Given the description of an element on the screen output the (x, y) to click on. 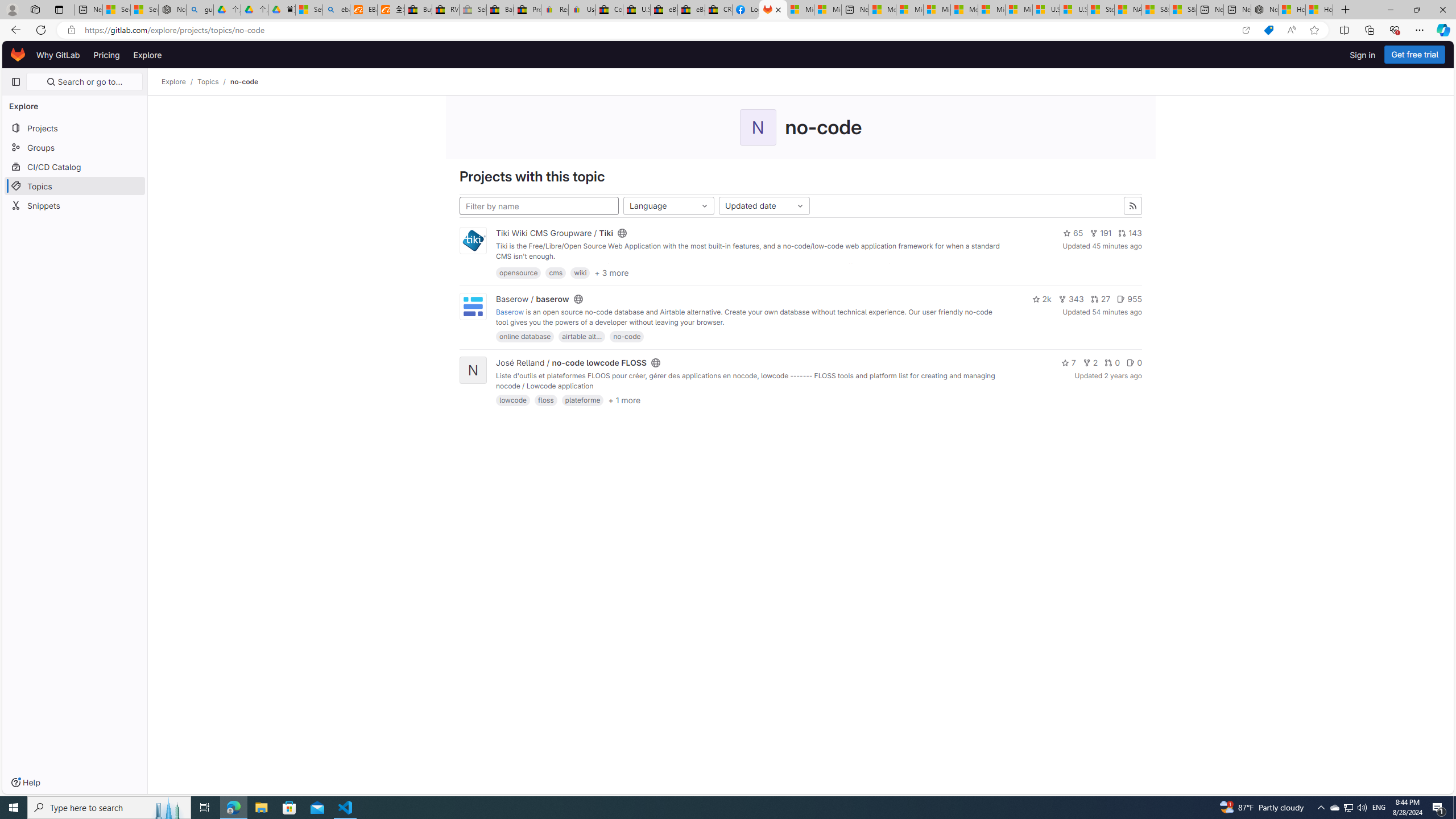
Open in app (1245, 29)
no-code (244, 81)
Get free trial (1414, 54)
Why GitLab (58, 54)
Press Room - eBay Inc. (527, 9)
opensource (518, 272)
Baserow / baserow (532, 299)
Snippets (74, 205)
RV, Trailer & Camper Steps & Ladders for sale | eBay (445, 9)
+ 3 more (611, 271)
7 (1068, 362)
